Given the description of an element on the screen output the (x, y) to click on. 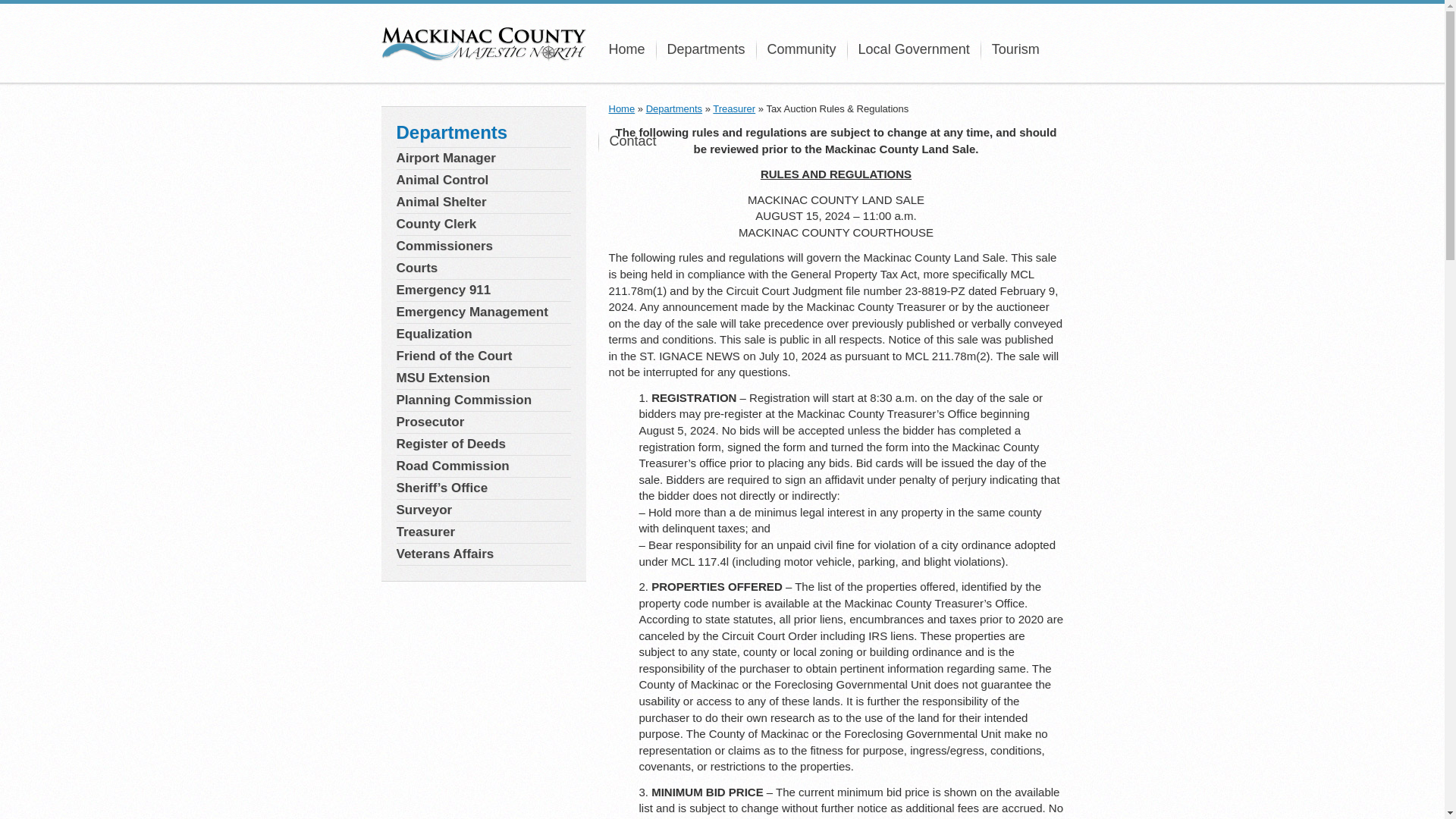
Community Information (802, 49)
Animal Control (483, 179)
Contact (632, 141)
Departments (705, 49)
Tourism (1015, 49)
Local Government Municipalities (913, 49)
Prosecuting Attorney (483, 422)
County Departments (705, 49)
Local Government (913, 49)
Animal Shelter (483, 201)
Contact Information (632, 141)
Airport Manager (483, 158)
County Clerk (483, 224)
Commissioners (483, 246)
Community (802, 49)
